Given the description of an element on the screen output the (x, y) to click on. 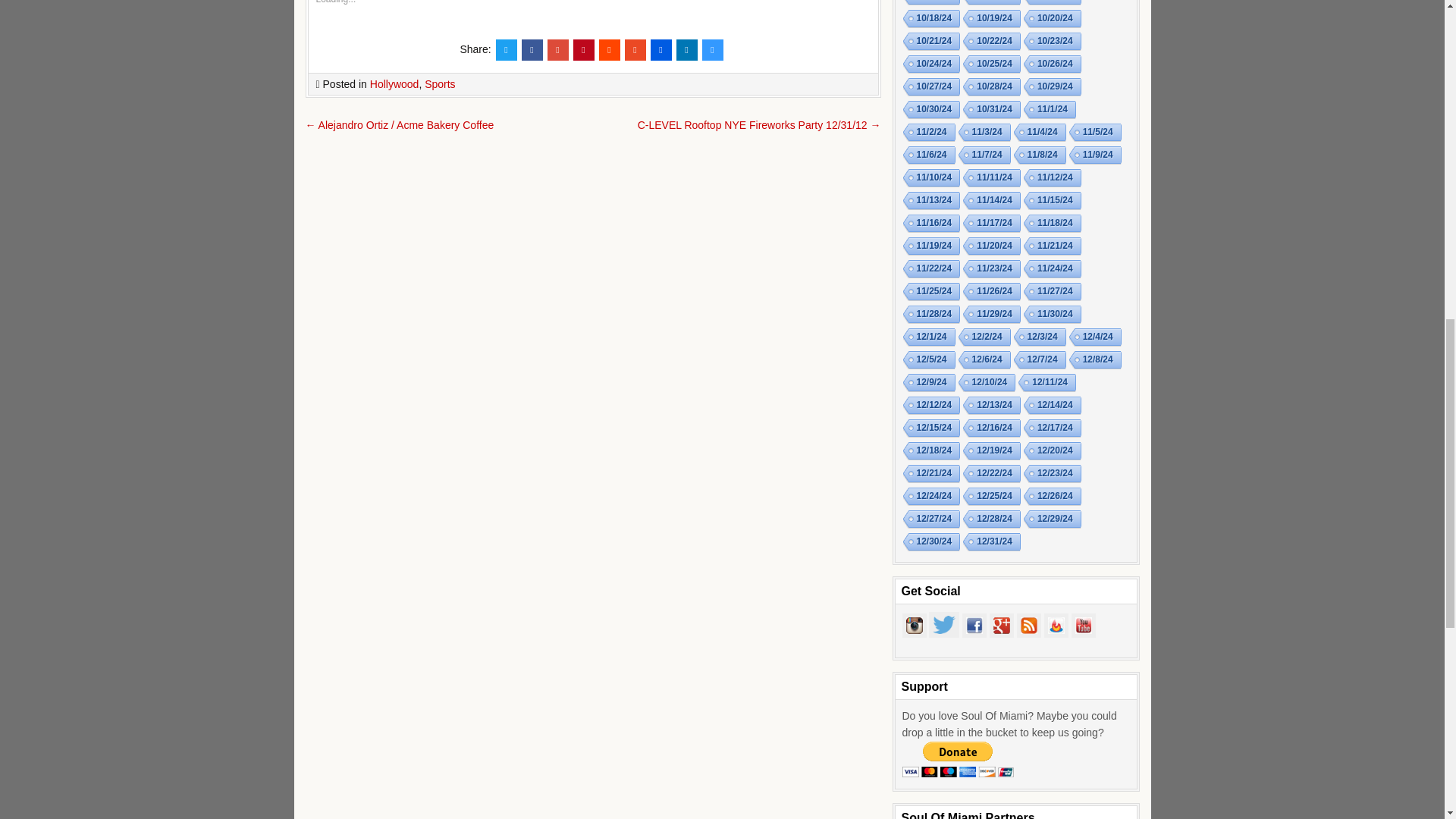
Sports (439, 83)
Share this on Reddit (609, 49)
Share this on Facebook (532, 49)
Hollywood (394, 83)
Share this on Stumbleupon (635, 49)
Share this on Pinterest (583, 49)
Share this on Digg (660, 49)
Tweet This! (506, 49)
